Given the description of an element on the screen output the (x, y) to click on. 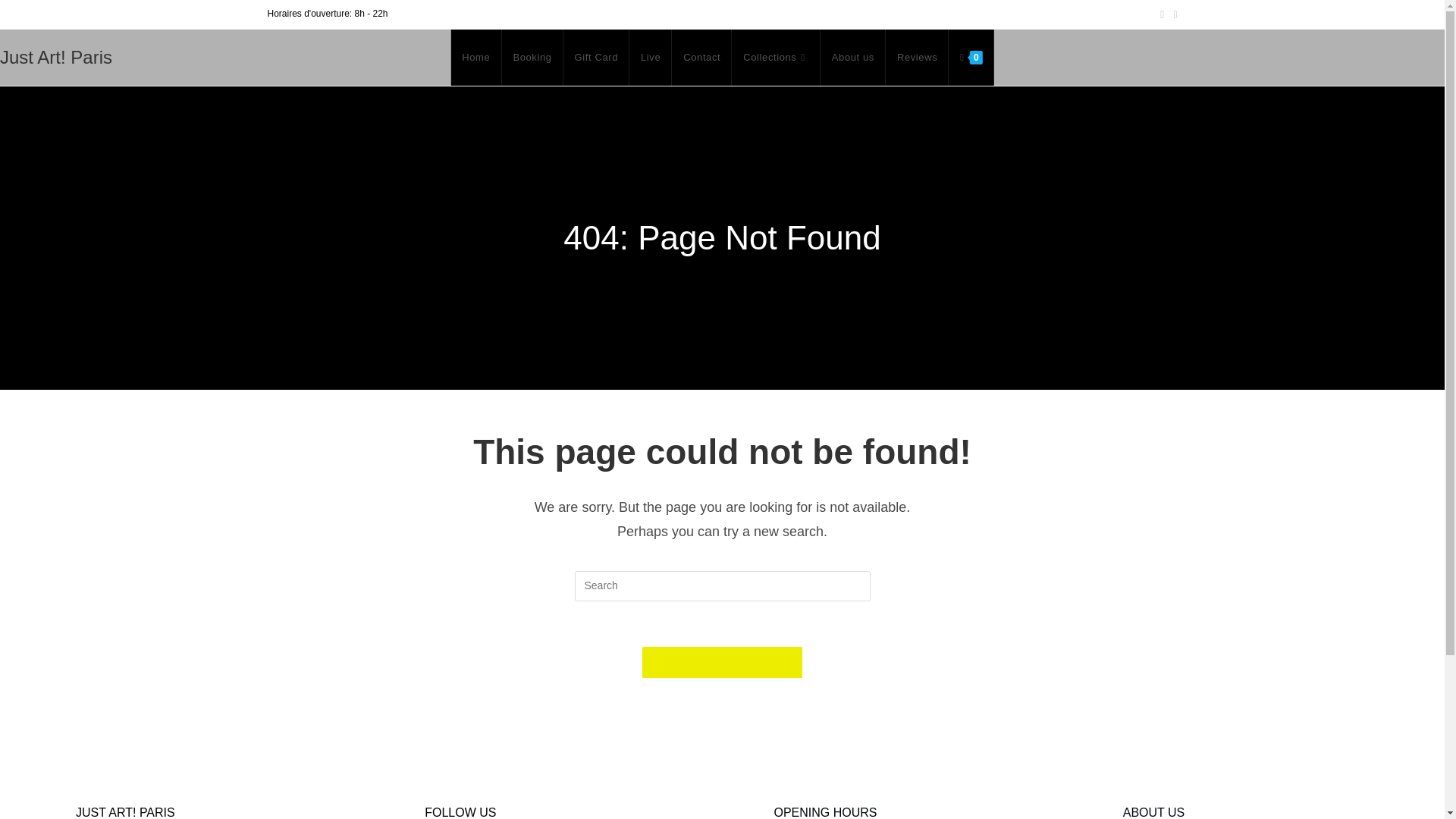
Collections (776, 57)
Home (474, 57)
Booking (531, 57)
Live (649, 57)
Gift Card (595, 57)
About us (853, 57)
Just Art! Paris (56, 56)
0 (970, 57)
Reviews (917, 57)
BACK TO HOMEPAGE (722, 662)
Contact (701, 57)
